Given the description of an element on the screen output the (x, y) to click on. 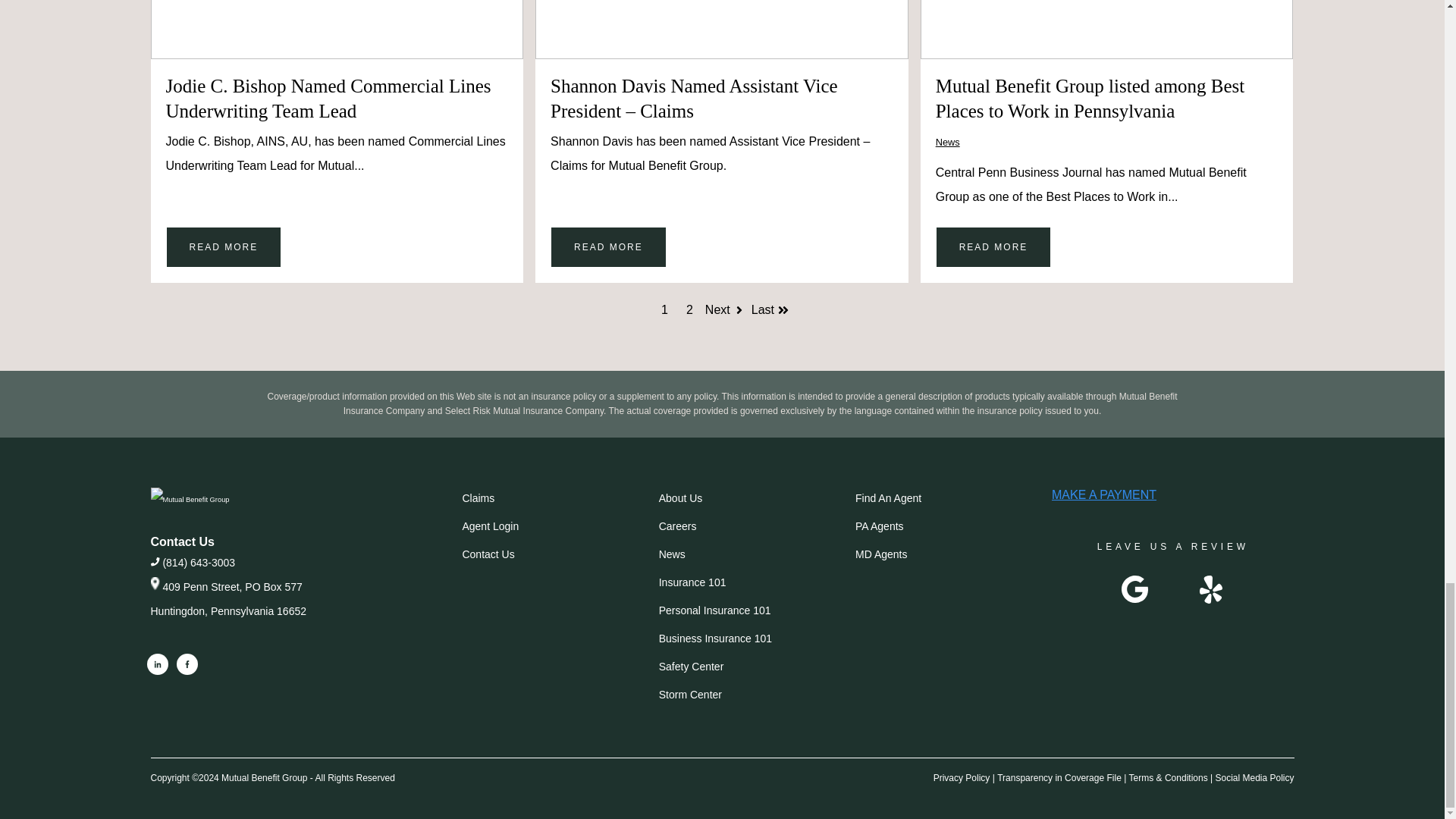
Mutual Benefit Group (188, 499)
